Given the description of an element on the screen output the (x, y) to click on. 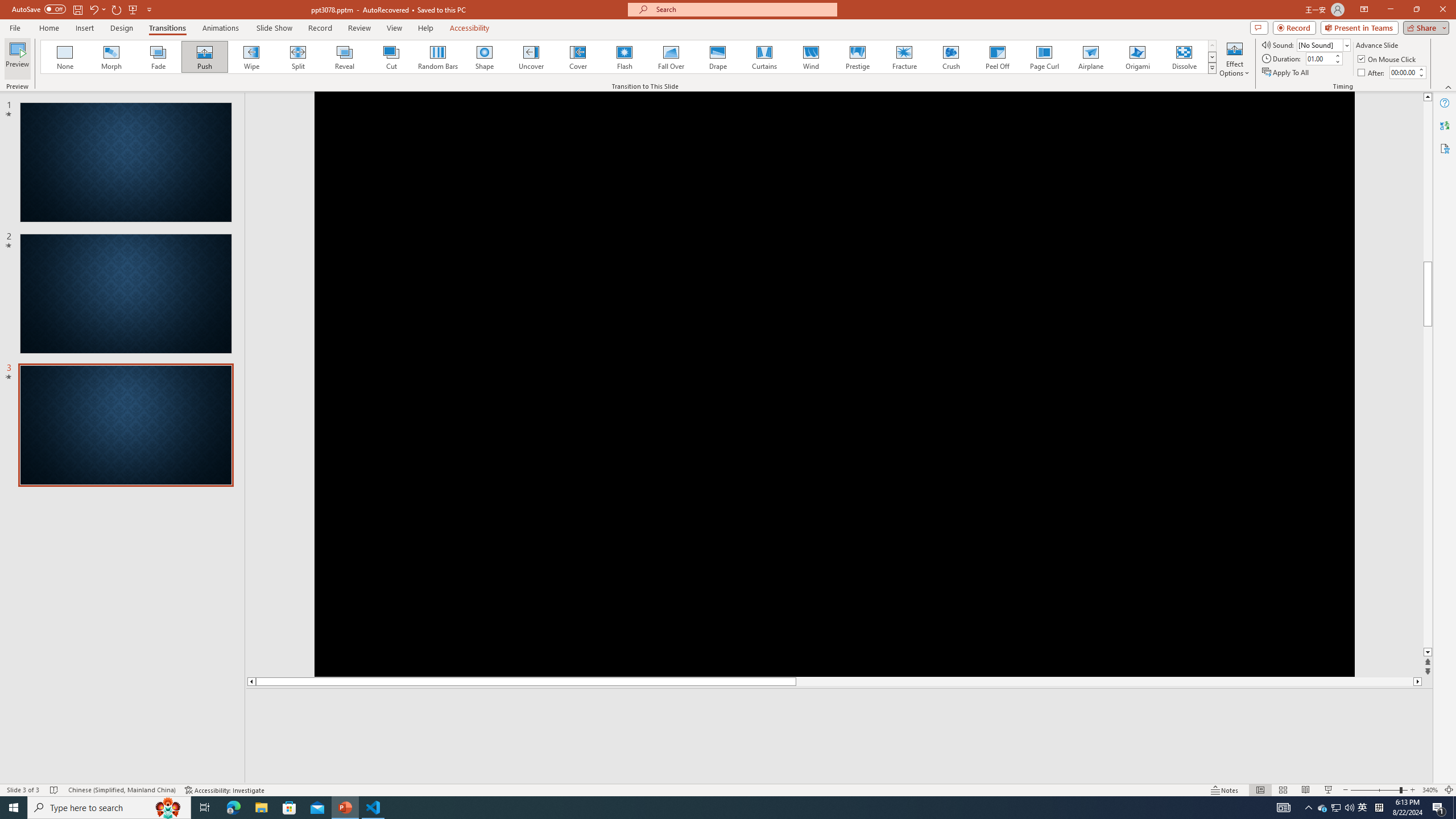
Fade (158, 56)
Uncover (531, 56)
Page Curl (1043, 56)
